Given the description of an element on the screen output the (x, y) to click on. 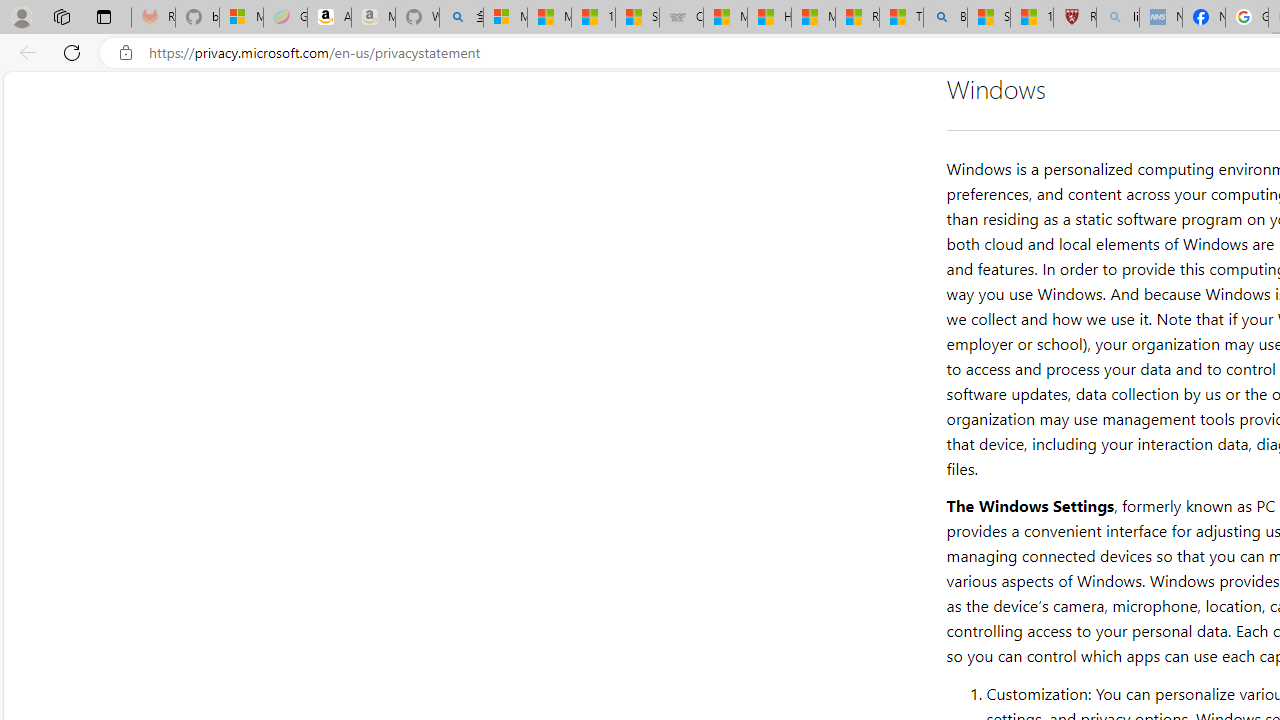
How I Got Rid of Microsoft Edge's Unnecessary Features (769, 17)
Bing (945, 17)
Science - MSN (988, 17)
Recipes - MSN (857, 17)
Robert H. Shmerling, MD - Harvard Health (1074, 17)
